Given the description of an element on the screen output the (x, y) to click on. 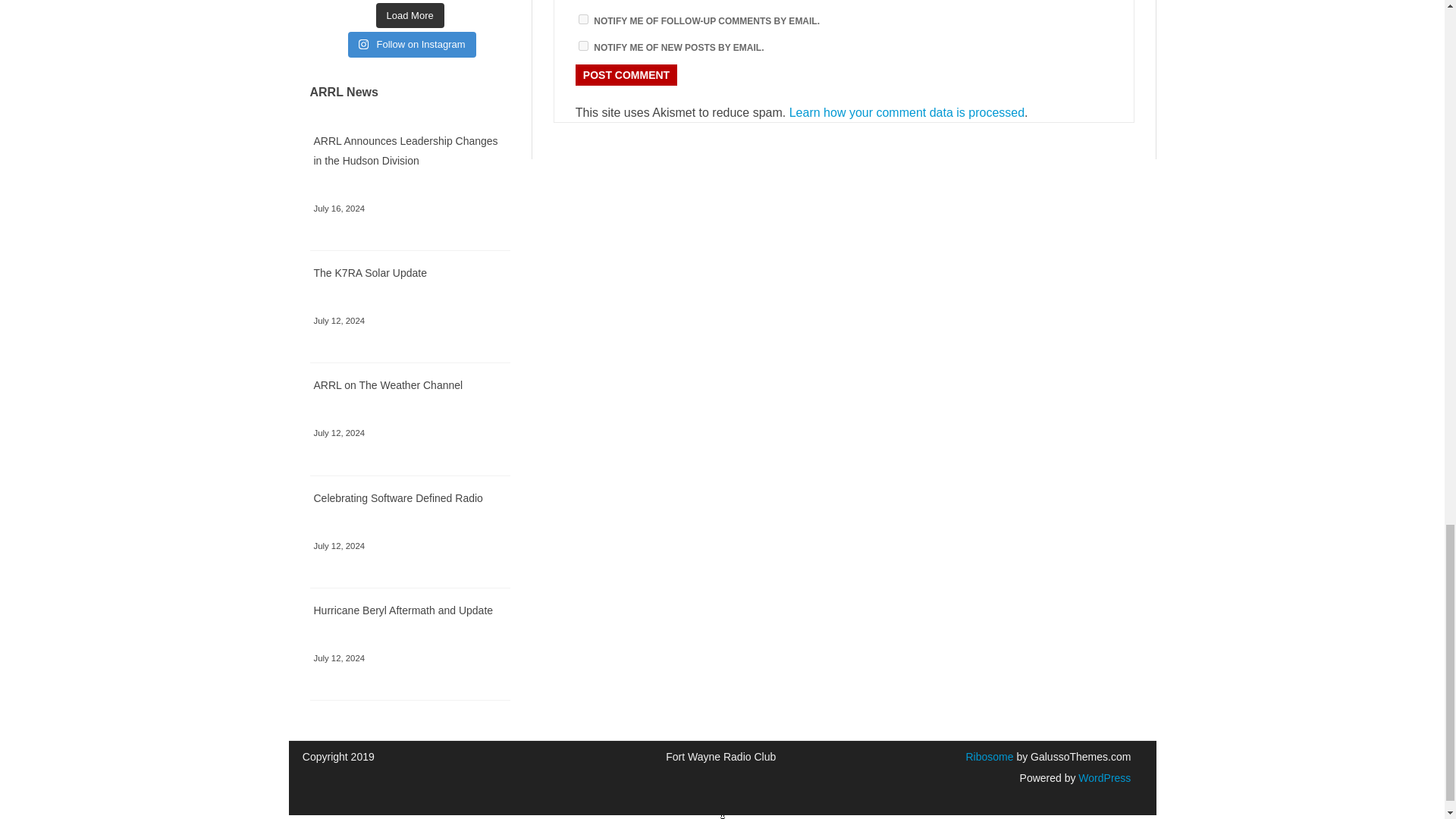
subscribe (583, 45)
subscribe (583, 19)
Post Comment (626, 74)
